Given the description of an element on the screen output the (x, y) to click on. 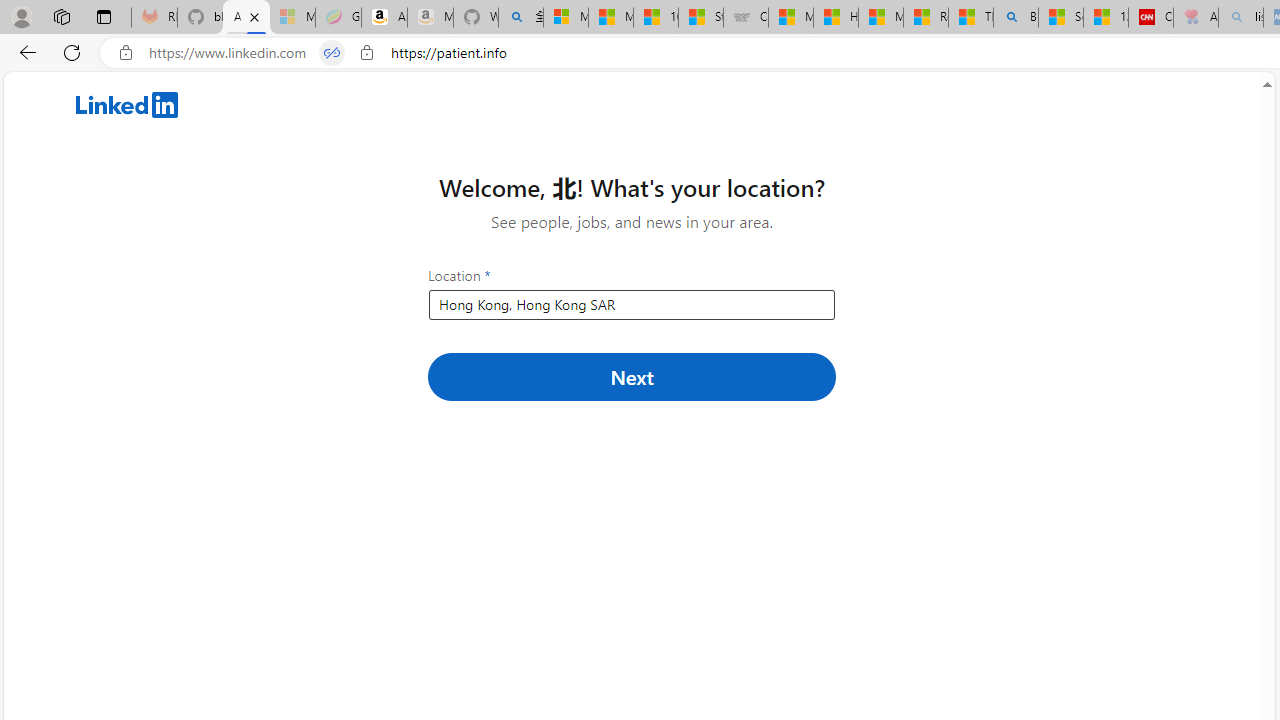
Bing (1016, 17)
12 Popular Science Lies that Must be Corrected (1105, 17)
How I Got Rid of Microsoft Edge's Unnecessary Features (835, 17)
